Given the description of an element on the screen output the (x, y) to click on. 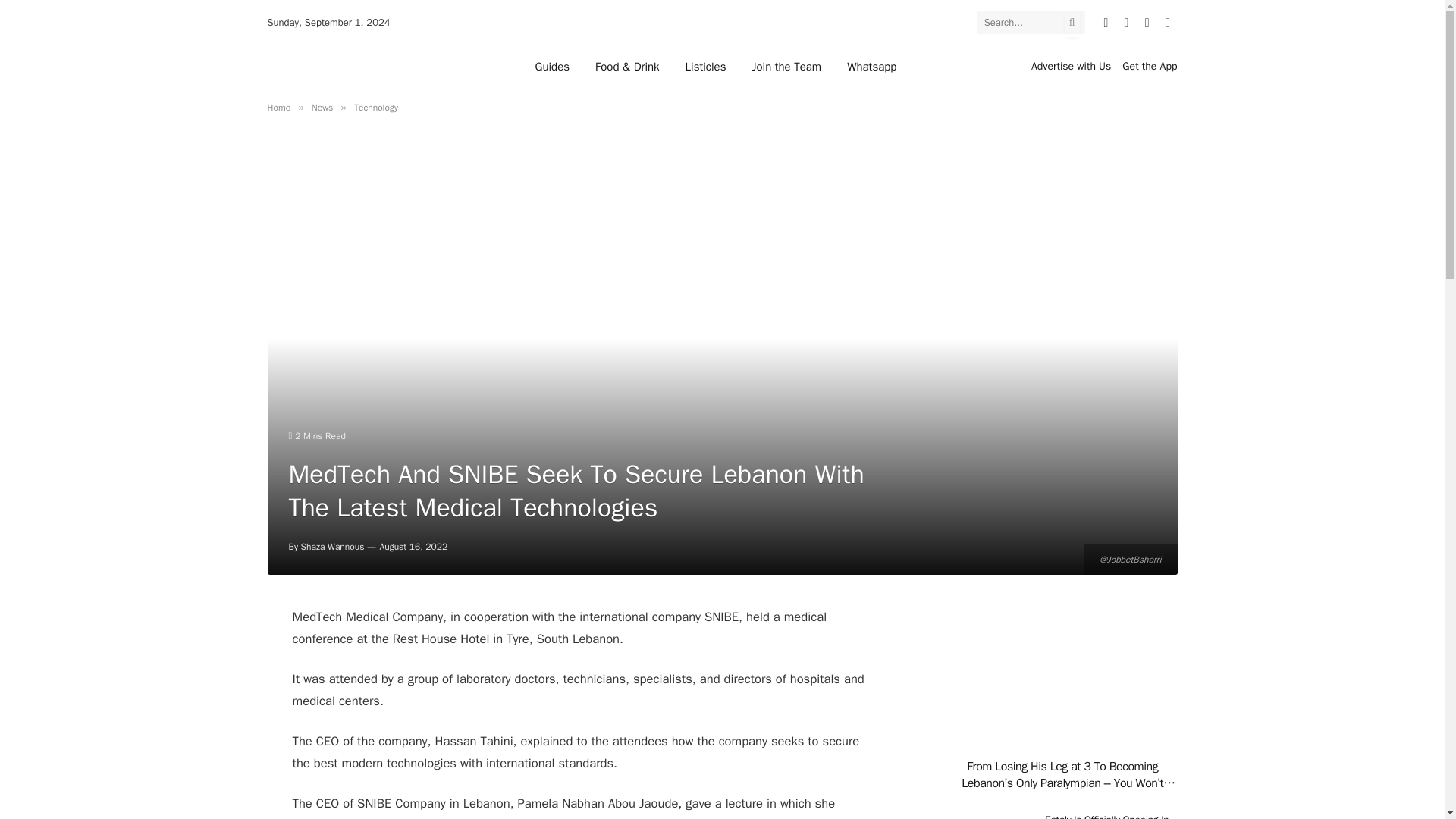
Get the App (1149, 66)
Join the Team (786, 65)
Listicles (705, 65)
Home (277, 107)
Technology (375, 107)
Advertise with Us (1070, 66)
Posts by Shaza Wannous (333, 546)
Shaza Wannous (333, 546)
Whatsapp (871, 65)
News (322, 107)
